Given the description of an element on the screen output the (x, y) to click on. 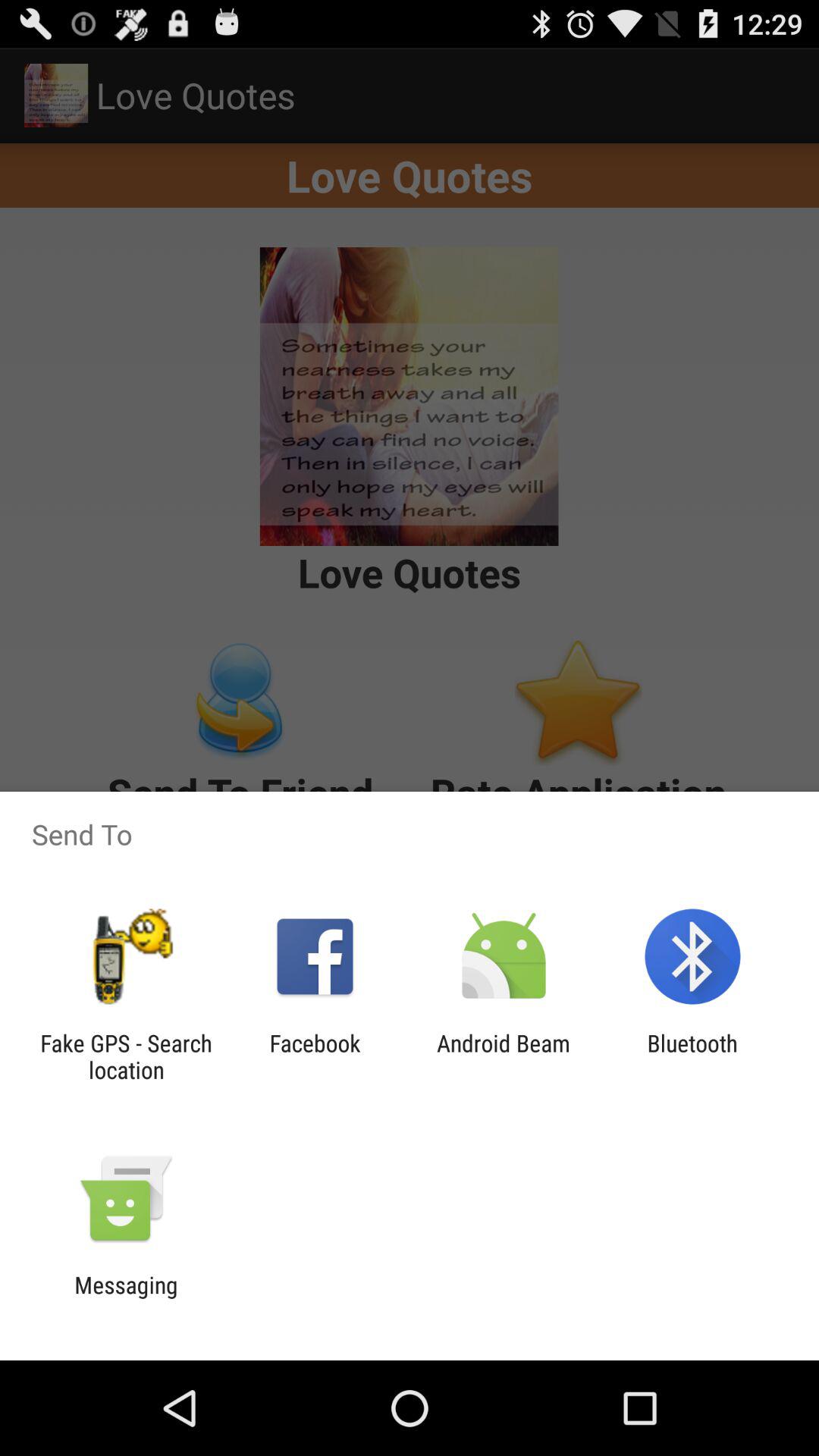
tap the app to the right of facebook app (503, 1056)
